Given the description of an element on the screen output the (x, y) to click on. 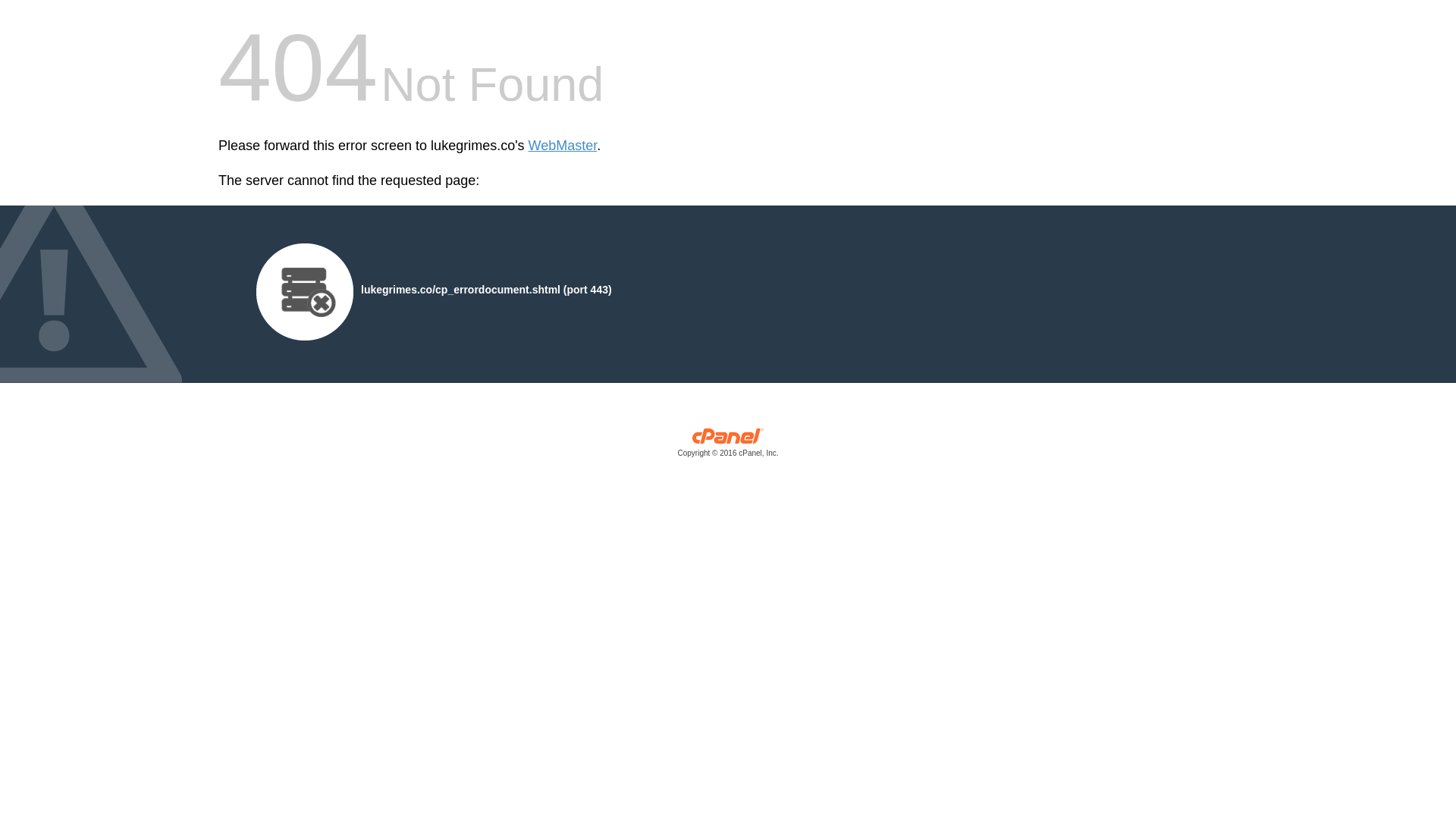
WebMaster (562, 145)
cPanel, Inc. (727, 446)
